Given the description of an element on the screen output the (x, y) to click on. 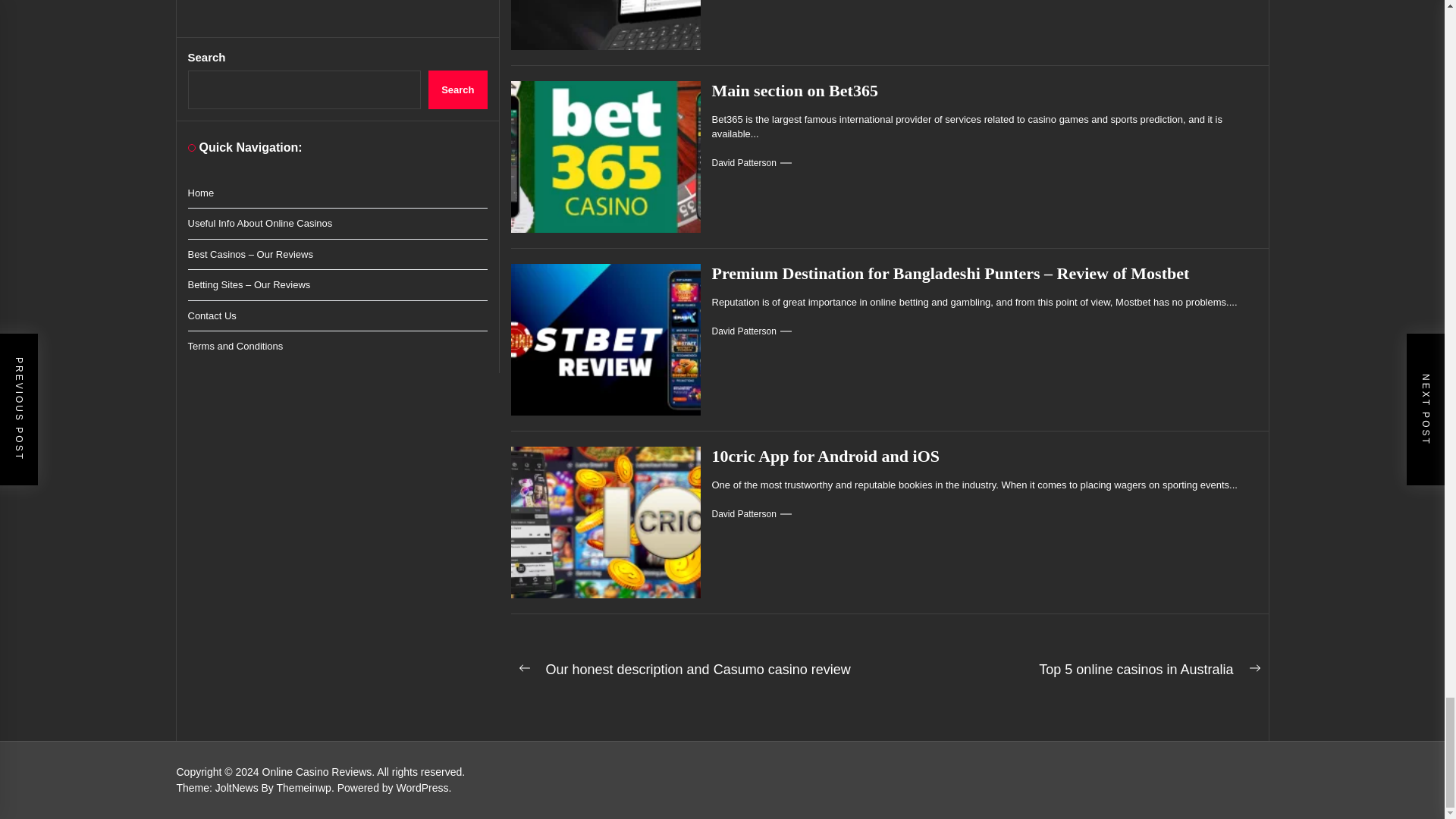
Online Casino Reviews (319, 771)
Themeinwp (306, 787)
